Given the description of an element on the screen output the (x, y) to click on. 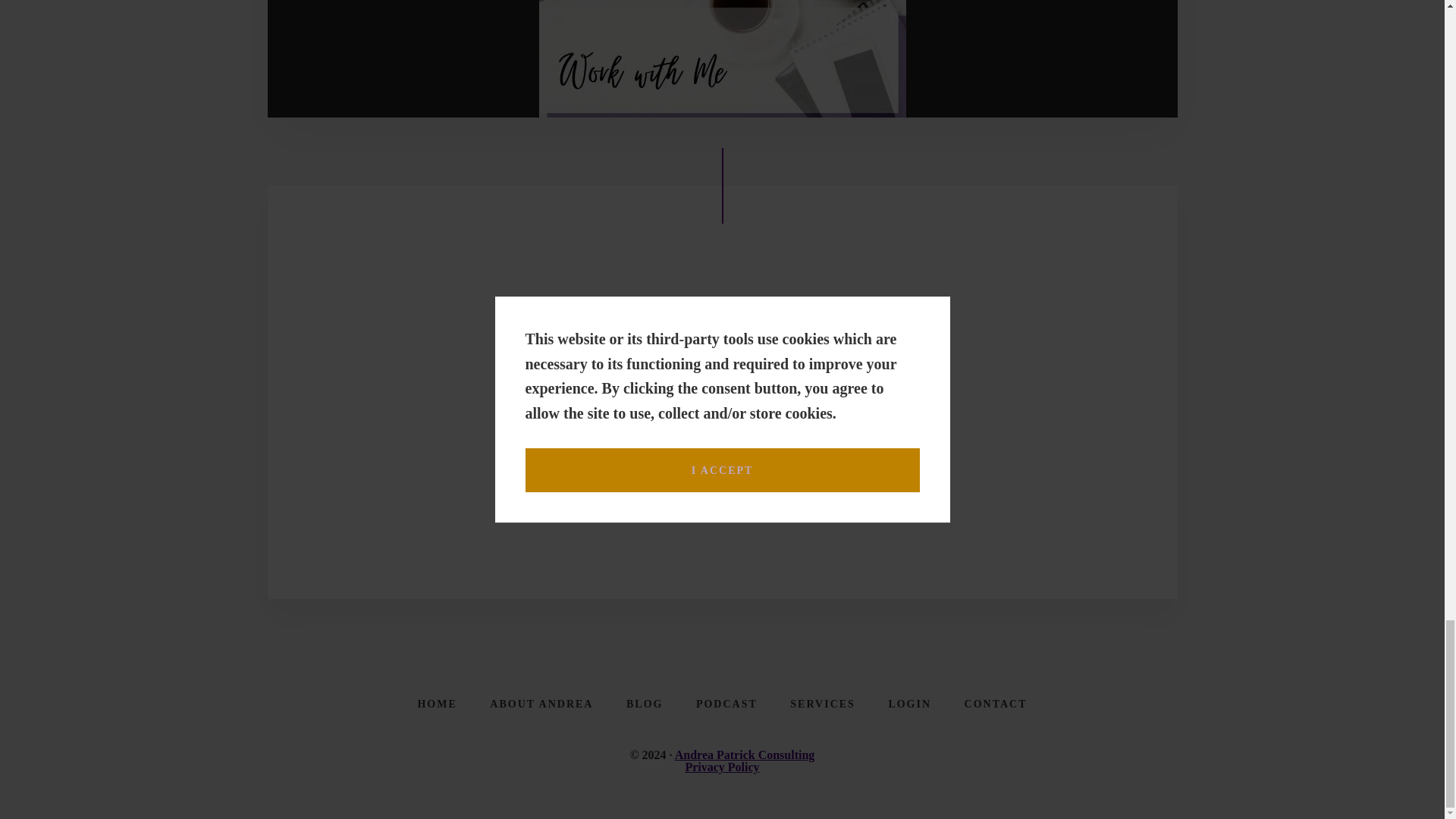
I'M IN! (859, 397)
Privacy Policy (721, 766)
checked (549, 481)
